Given the description of an element on the screen output the (x, y) to click on. 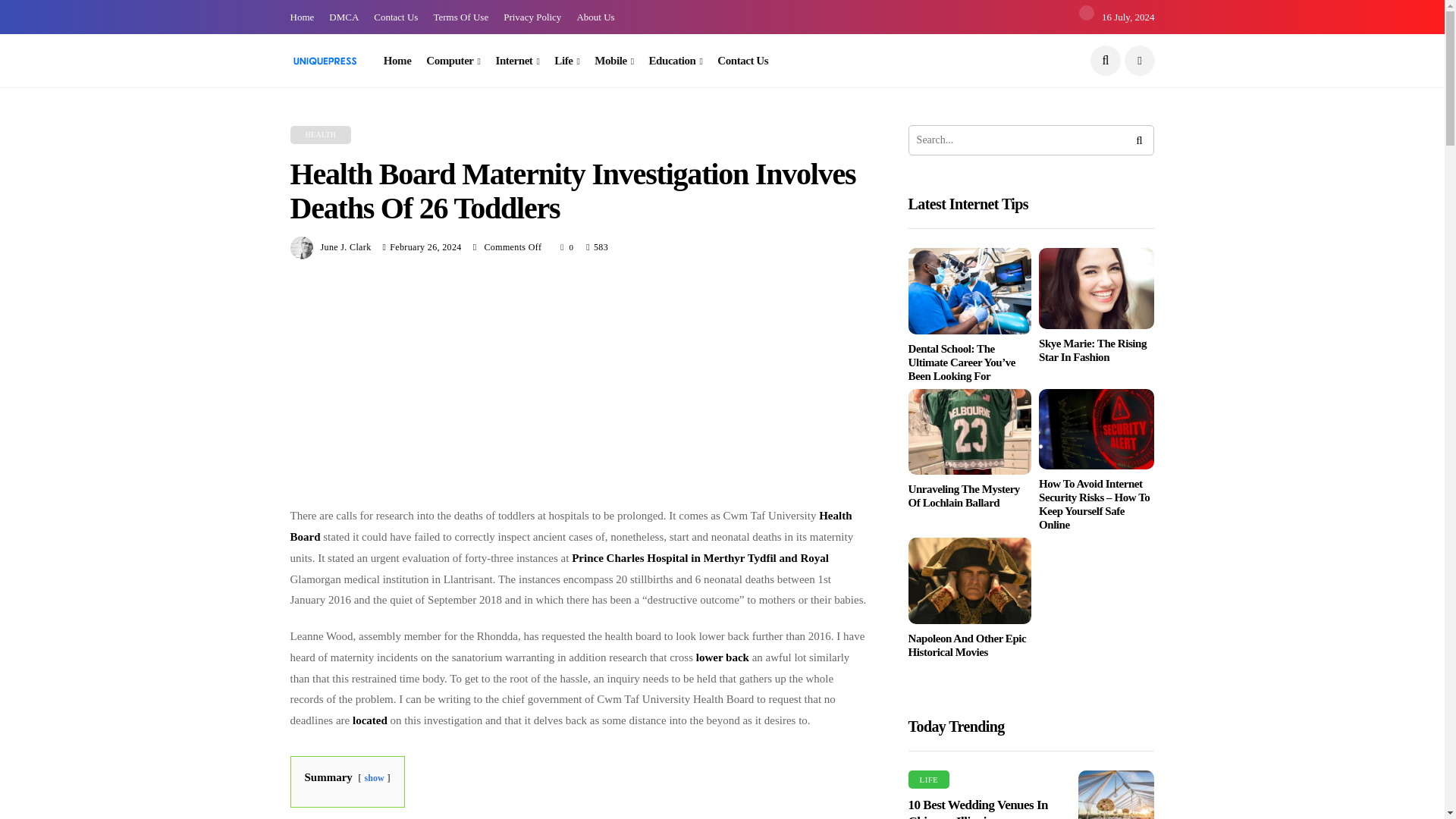
Education (676, 60)
Privacy Policy (531, 17)
Like (567, 246)
Computer (453, 60)
About Us (595, 17)
Advertisement (577, 391)
Contact Us (395, 17)
Terms Of Use (459, 17)
Contact Us (742, 60)
Posts by June J. Clark (345, 246)
